Given the description of an element on the screen output the (x, y) to click on. 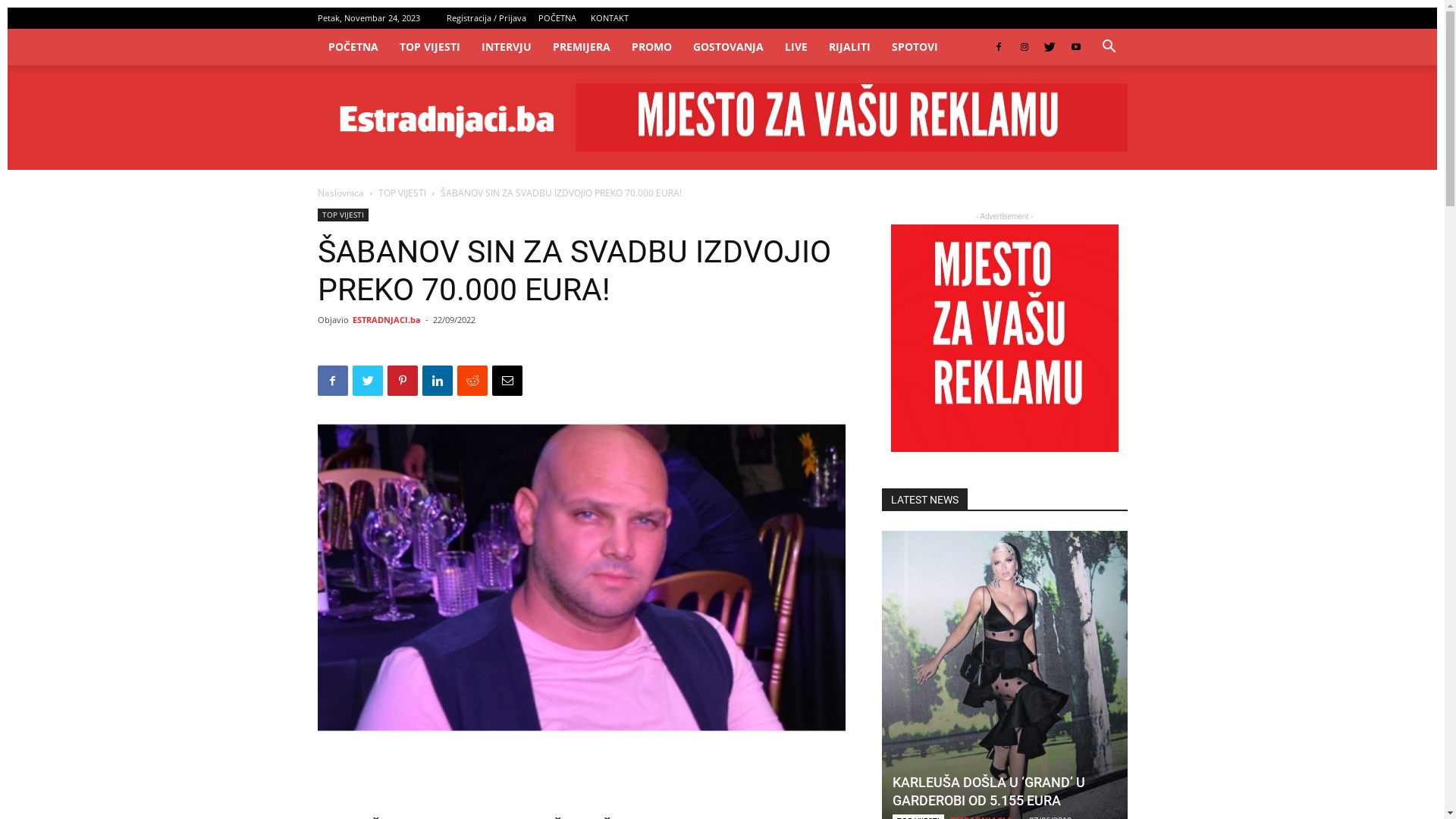
Estradne vijesti na klik! Element type: hover (445, 117)
GOSTOVANJA Element type: text (728, 46)
PROMO Element type: text (650, 46)
MIHAJLO Element type: hover (580, 577)
Instagram Element type: hover (1024, 46)
TOP VIJESTI Element type: text (341, 214)
Youtube Element type: hover (1115, 17)
Youtube Element type: hover (1075, 46)
TOP VIJESTI Element type: text (429, 46)
Advertisement Element type: hover (580, 774)
Naslovnica Element type: text (339, 192)
ESTRADNJACI.ba Element type: text (385, 319)
SPOTOVI Element type: text (914, 46)
KONTAKT Element type: text (608, 17)
Instagram Element type: hover (1065, 17)
Registracija / Prijava Element type: text (485, 17)
Facebook Element type: hover (1040, 17)
Twitter Element type: hover (1049, 46)
Facebook Element type: hover (998, 46)
TOP VIJESTI Element type: text (401, 192)
PREMIJERA Element type: text (580, 46)
Twitter Element type: hover (1090, 17)
RIJALITI Element type: text (848, 46)
LIVE Element type: text (795, 46)
INTERVJU Element type: text (505, 46)
